Given the description of an element on the screen output the (x, y) to click on. 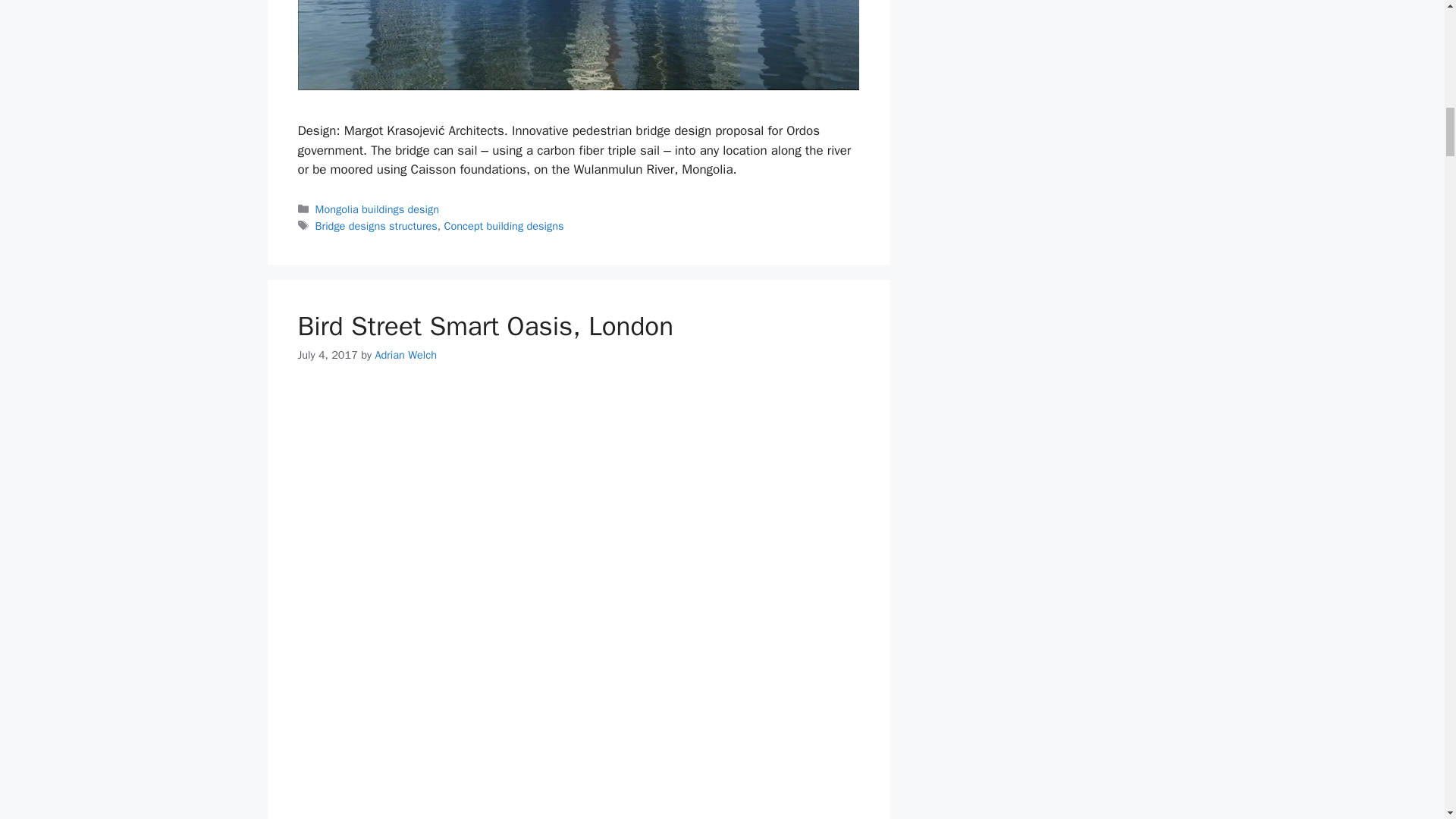
View all posts by Adrian Welch (405, 354)
Adrian Welch (405, 354)
Bridge designs structures (376, 225)
Bird Street Smart Oasis, London (484, 326)
Concept building designs (503, 225)
Mongolia buildings design (377, 209)
